Given the description of an element on the screen output the (x, y) to click on. 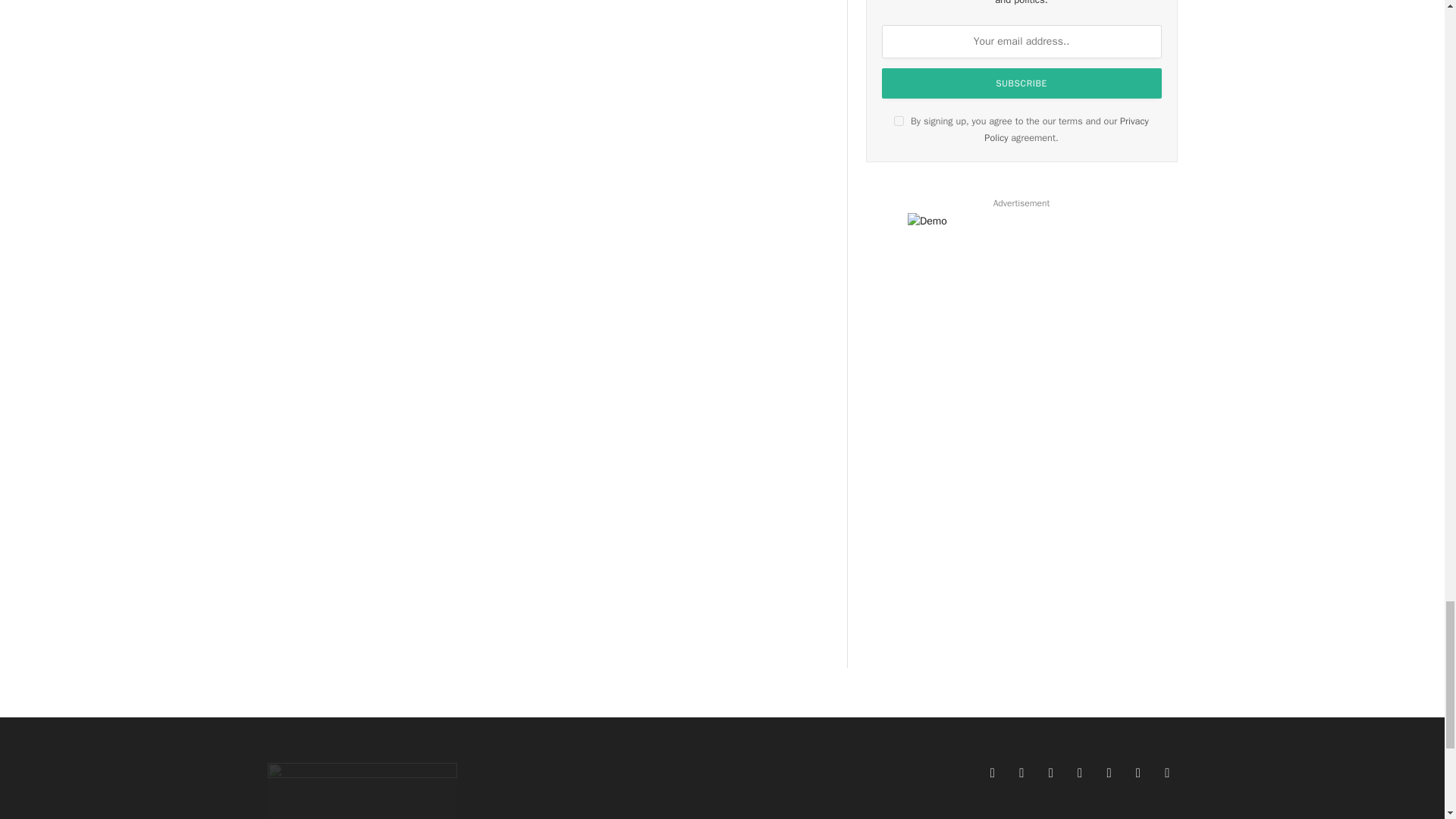
on (898, 121)
Subscribe (1021, 82)
